Given the description of an element on the screen output the (x, y) to click on. 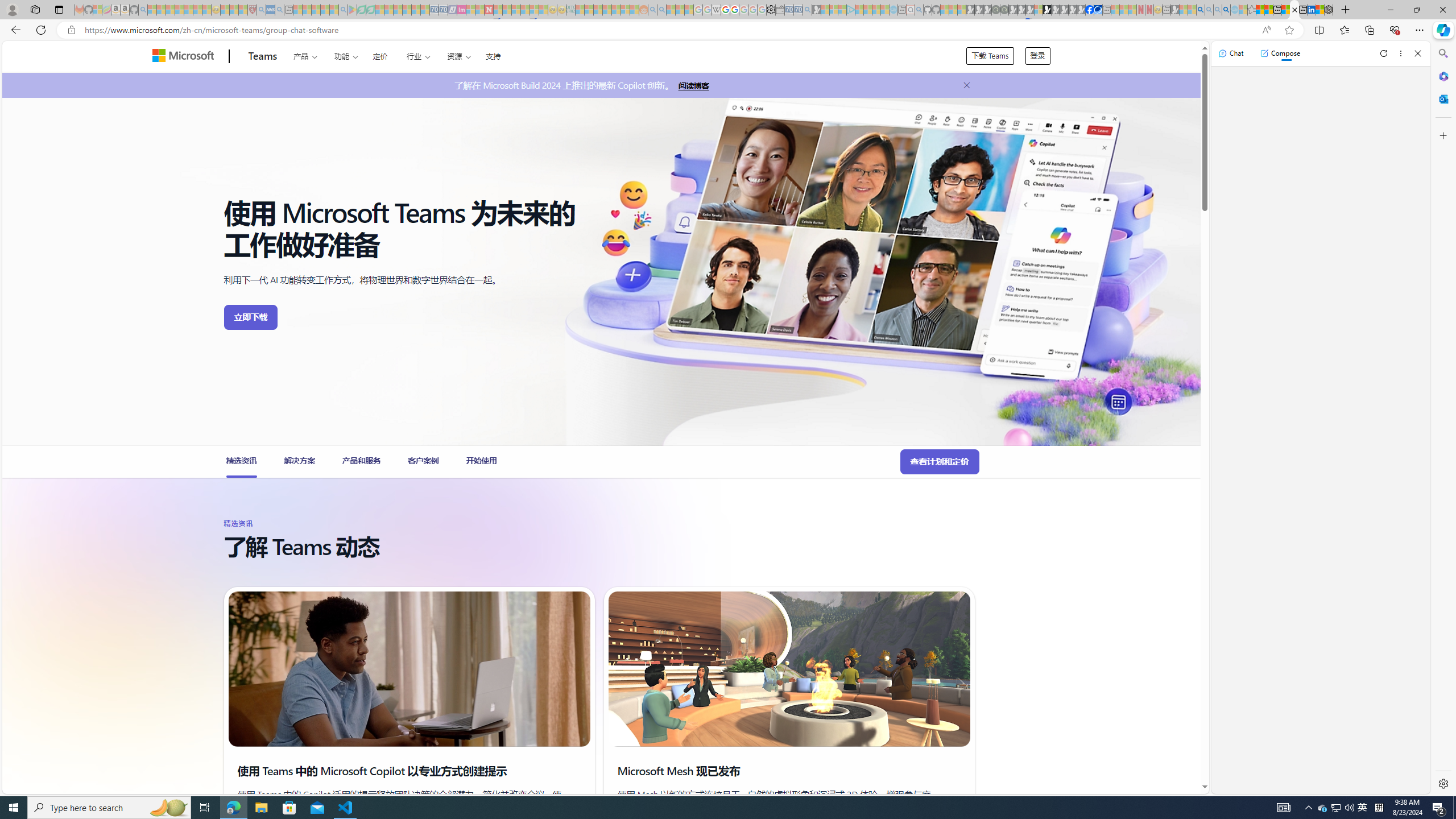
Robert H. Shmerling, MD - Harvard Health - Sleeping (252, 9)
Microsoft (184, 56)
Target page - Wikipedia - Sleeping (716, 9)
